Given the description of an element on the screen output the (x, y) to click on. 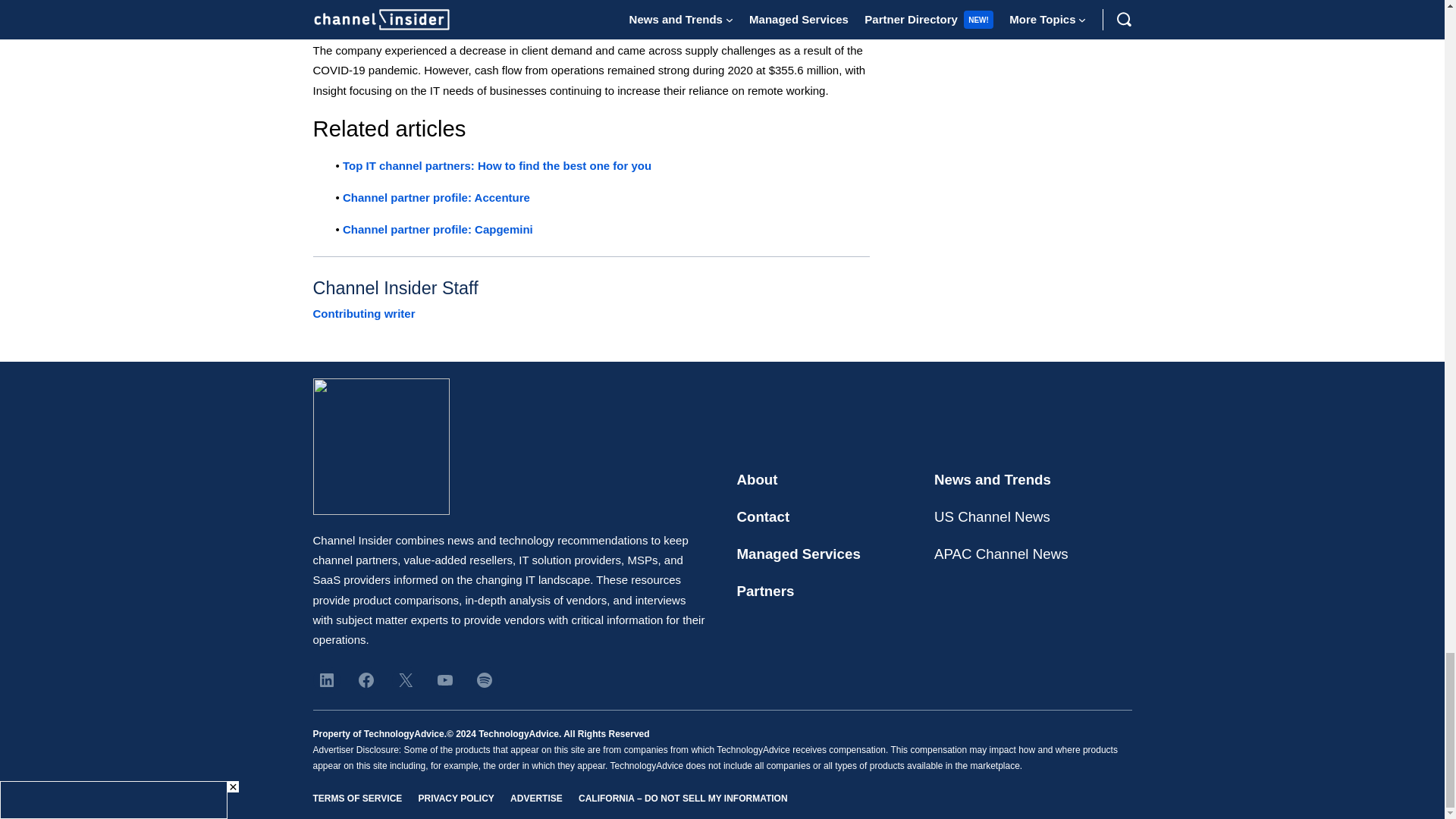
Top IT channel partner profile: Accenture (435, 196)
Top IT channel partners: How to find the best one for you (496, 164)
Channel partner profile: Accenture (435, 196)
Top IT channel partner profile: Capgemini (437, 228)
